Given the description of an element on the screen output the (x, y) to click on. 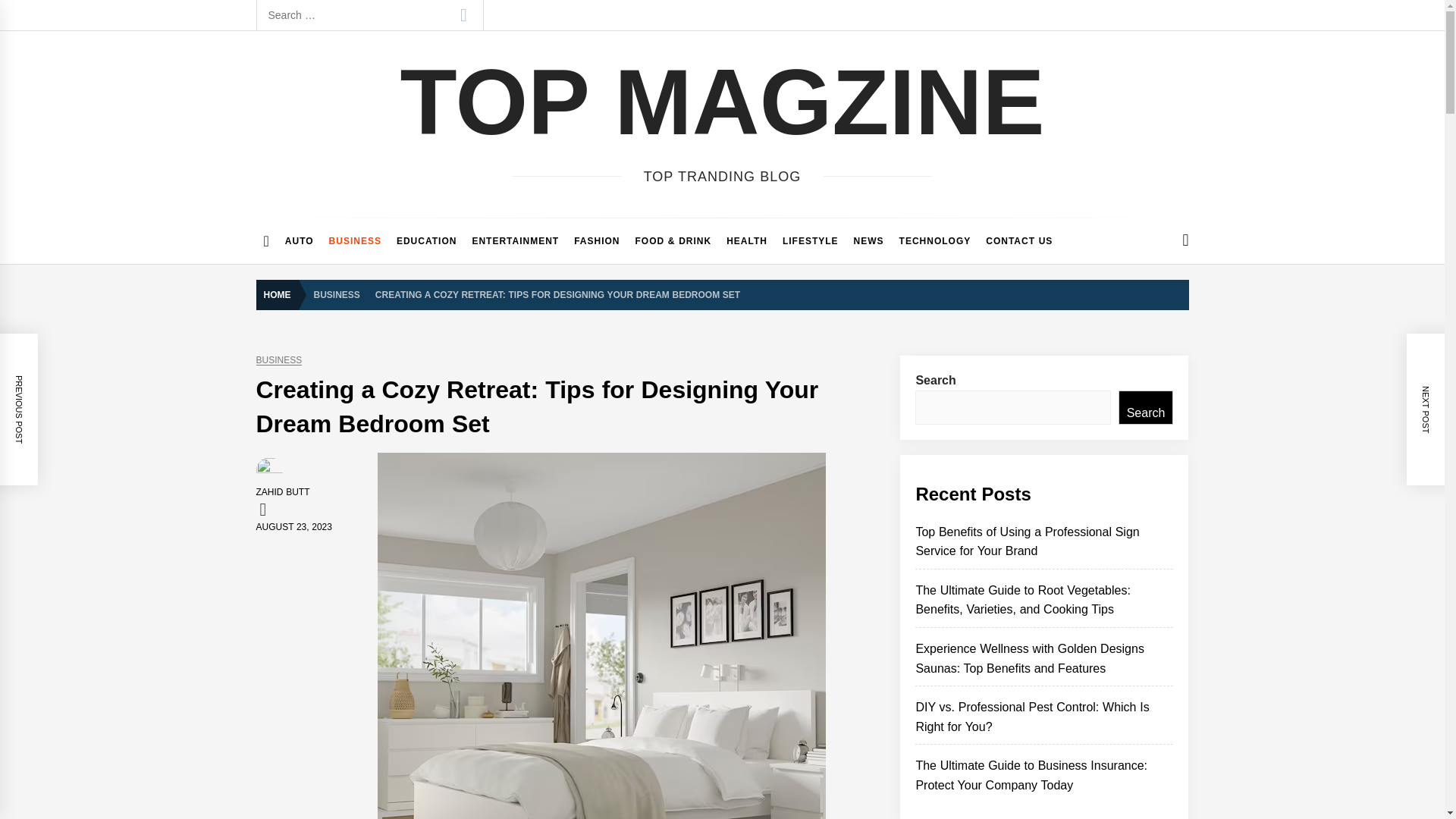
AUGUST 23, 2023 (293, 526)
CONTACT US (1018, 240)
BUSINESS (279, 360)
Search (462, 15)
Search (462, 15)
HOME (280, 295)
HEALTH (746, 240)
BUSINESS (354, 240)
